Given the description of an element on the screen output the (x, y) to click on. 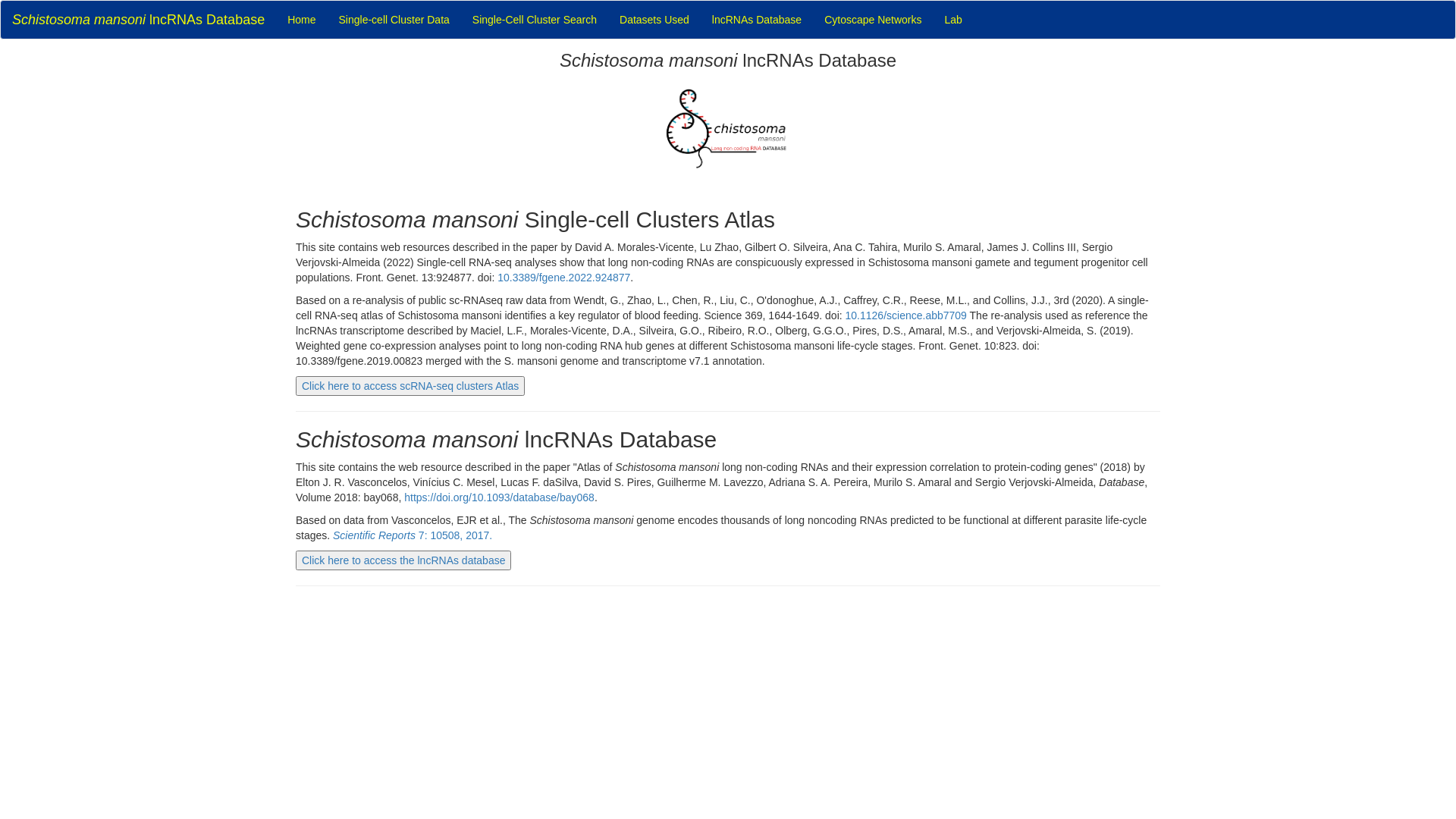
10.3389/fgene.2022.924877 Element type: text (563, 277)
Click here to access scRNA-seq clusters Atlas Element type: text (409, 385)
https://doi.org/10.1093/database/bay068 Element type: text (499, 497)
Datasets Used Element type: text (654, 19)
10.1126/science.abb7709 Element type: text (905, 315)
Click here to access scRNA-seq clusters Atlas Element type: text (409, 385)
Click here to access the lncRNAs database Element type: text (403, 560)
Single-cell Cluster Data Element type: text (394, 19)
Lab Element type: text (953, 19)
Cytoscape Networks Element type: text (872, 19)
Click here to access the lncRNAs database Element type: text (403, 560)
Home Element type: text (301, 19)
lncRNAs Database Element type: text (756, 19)
Scientific Reports 7: 10508, 2017. Element type: text (412, 535)
Single-Cell Cluster Search Element type: text (534, 19)
Schistosoma mansoni lncRNAs Database Element type: text (138, 19)
